Given the description of an element on the screen output the (x, y) to click on. 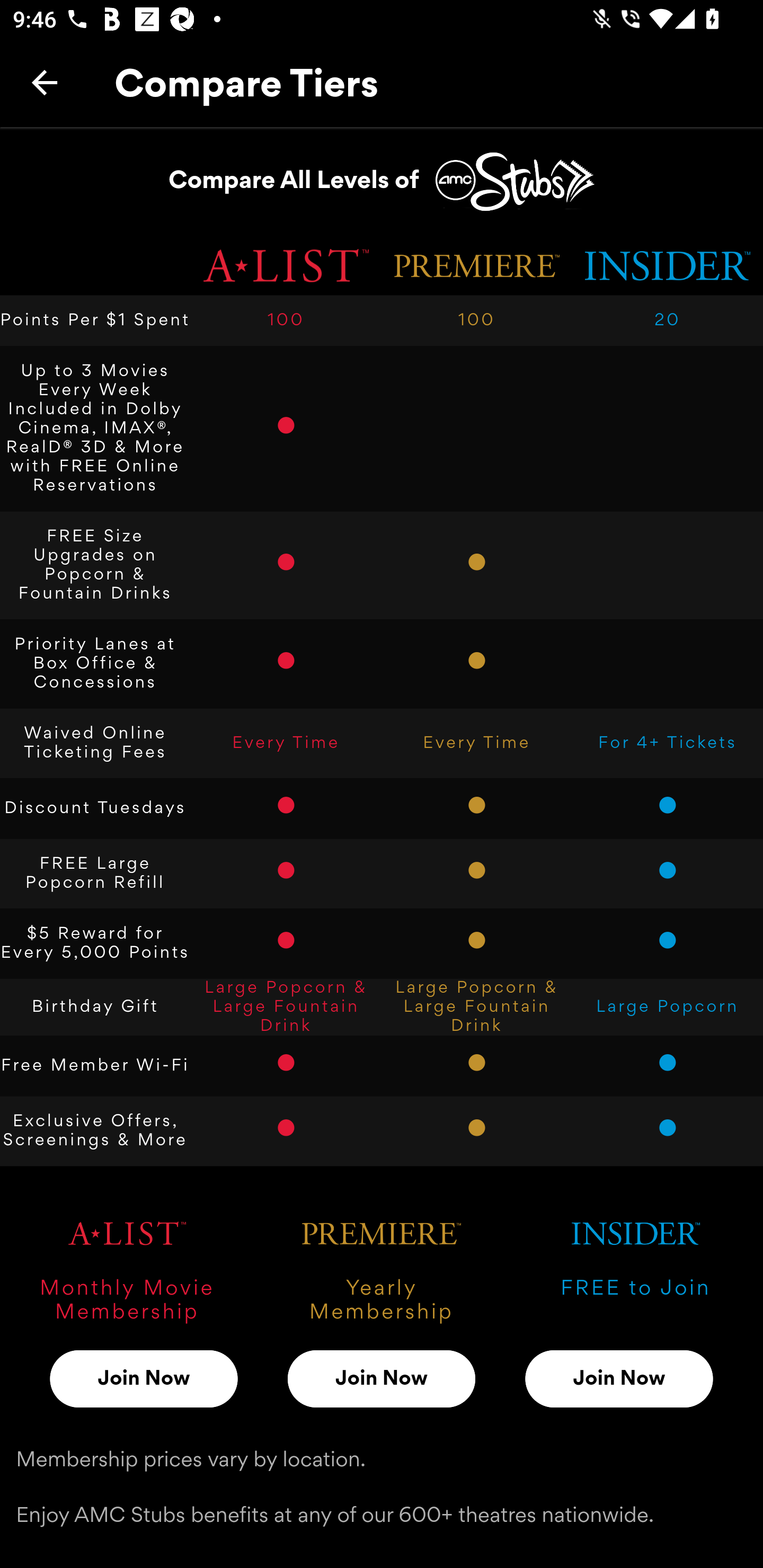
Back (44, 82)
Join Now (144, 1378)
Join Now (381, 1378)
Join Now (619, 1378)
